Given the description of an element on the screen output the (x, y) to click on. 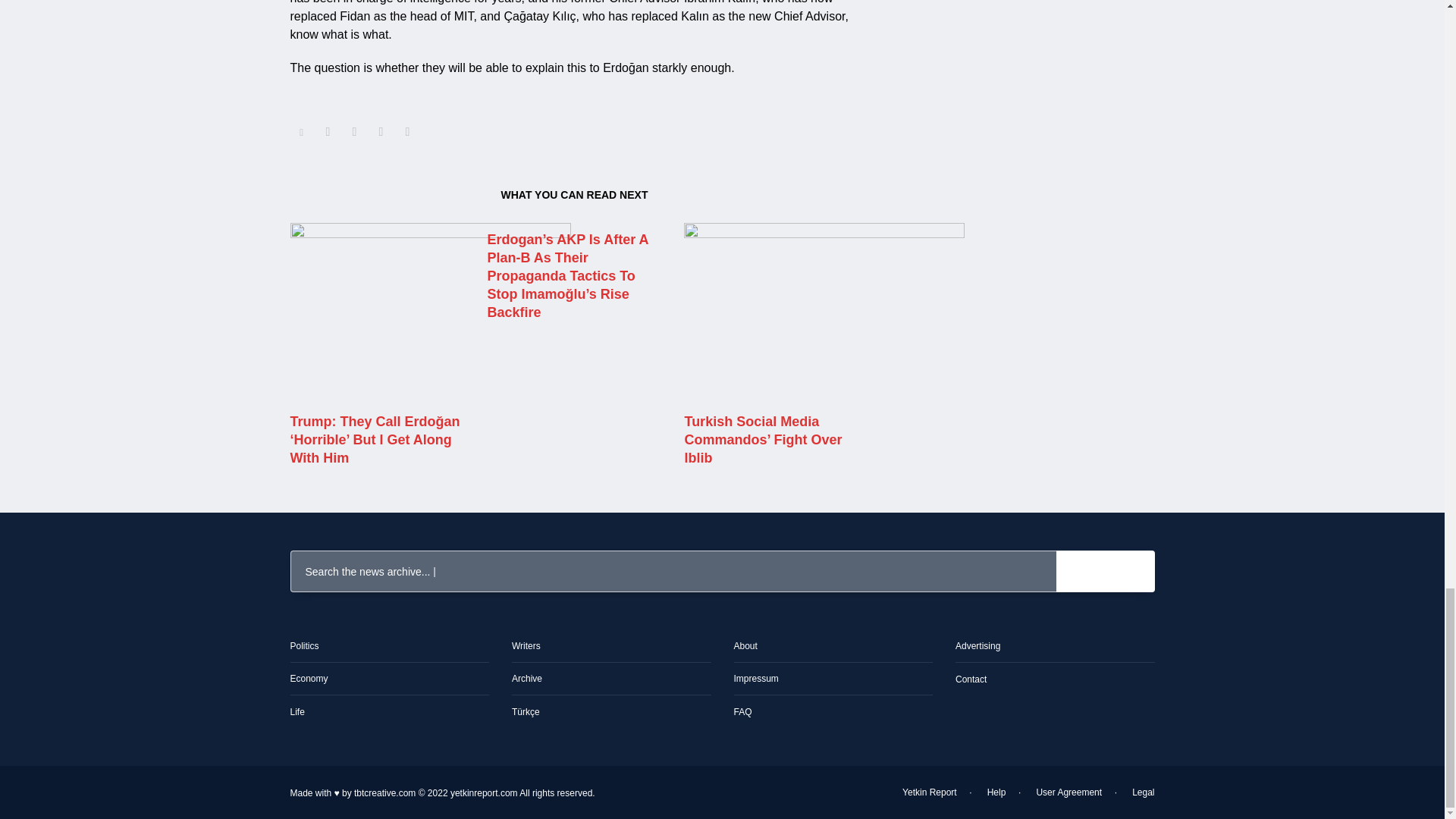
SHARE ON PINTEREST (381, 131)
Life (381, 719)
Economy (381, 686)
SHARE ON GPLUS (353, 131)
trump1 (429, 313)
Politics (381, 653)
SHARE ON FACEBOOK (328, 131)
SHARE ON MAIL (407, 131)
SHARE ON TWITTER (301, 132)
